Given the description of an element on the screen output the (x, y) to click on. 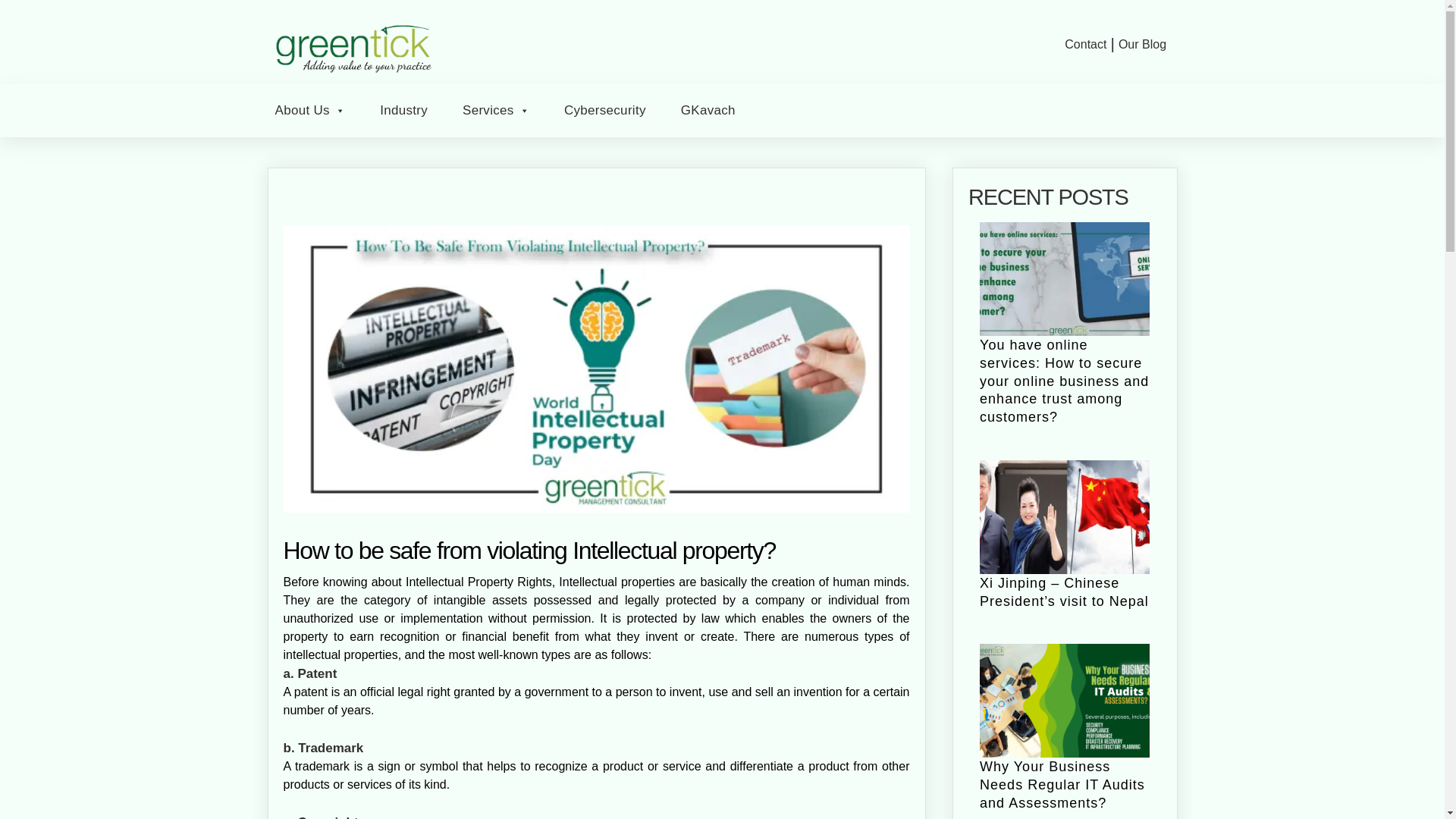
Cybersecurity (604, 110)
Our Blog (1142, 43)
Search (24, 11)
Services (495, 110)
Industry (403, 110)
About Us (309, 110)
GKavach (707, 110)
Contact (1085, 43)
